Given the description of an element on the screen output the (x, y) to click on. 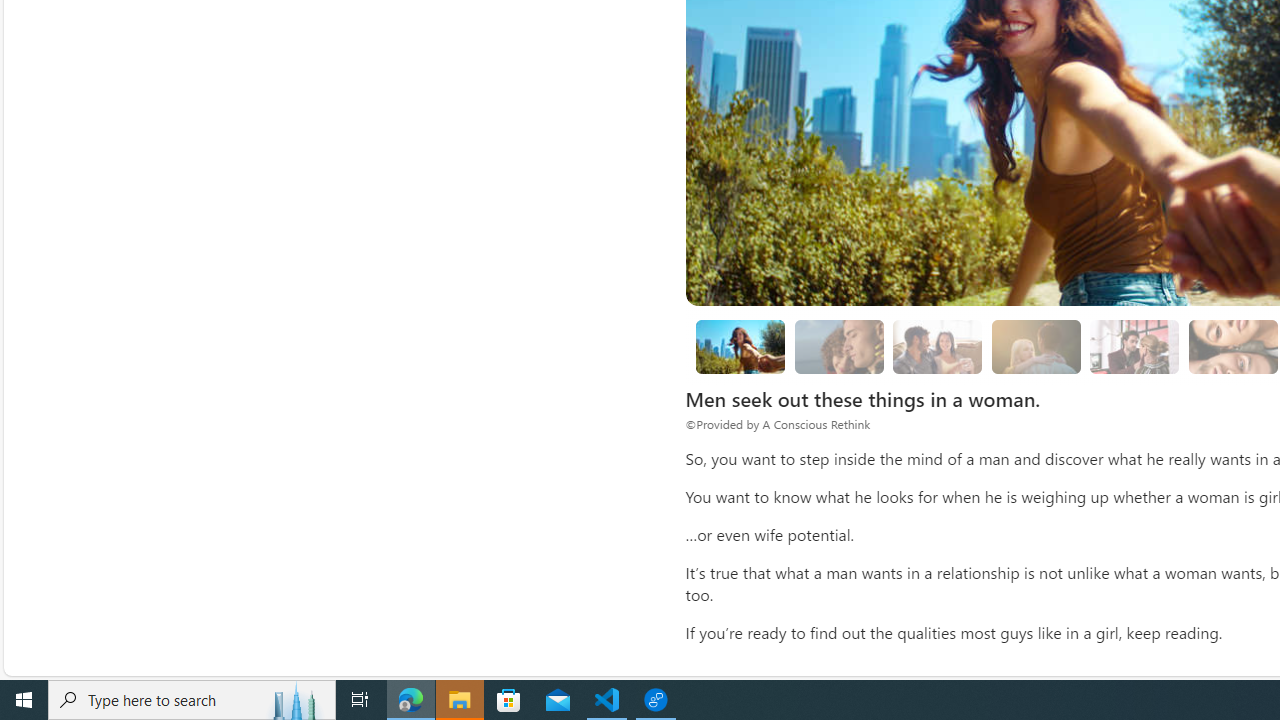
2. She is accepting. (938, 346)
4. She is supportive. (1135, 346)
1. She is compassionate. (838, 346)
Men seek out these things in a woman. (740, 346)
Class: progress (1134, 343)
5. She is independent. (1232, 346)
2. She is accepting. (937, 346)
3. She is appreciative. (1035, 346)
Men seek out these things in a woman. (740, 346)
4. She is supportive. (1134, 346)
3. She is appreciative. (1035, 346)
1. She is compassionate. (838, 346)
